Given the description of an element on the screen output the (x, y) to click on. 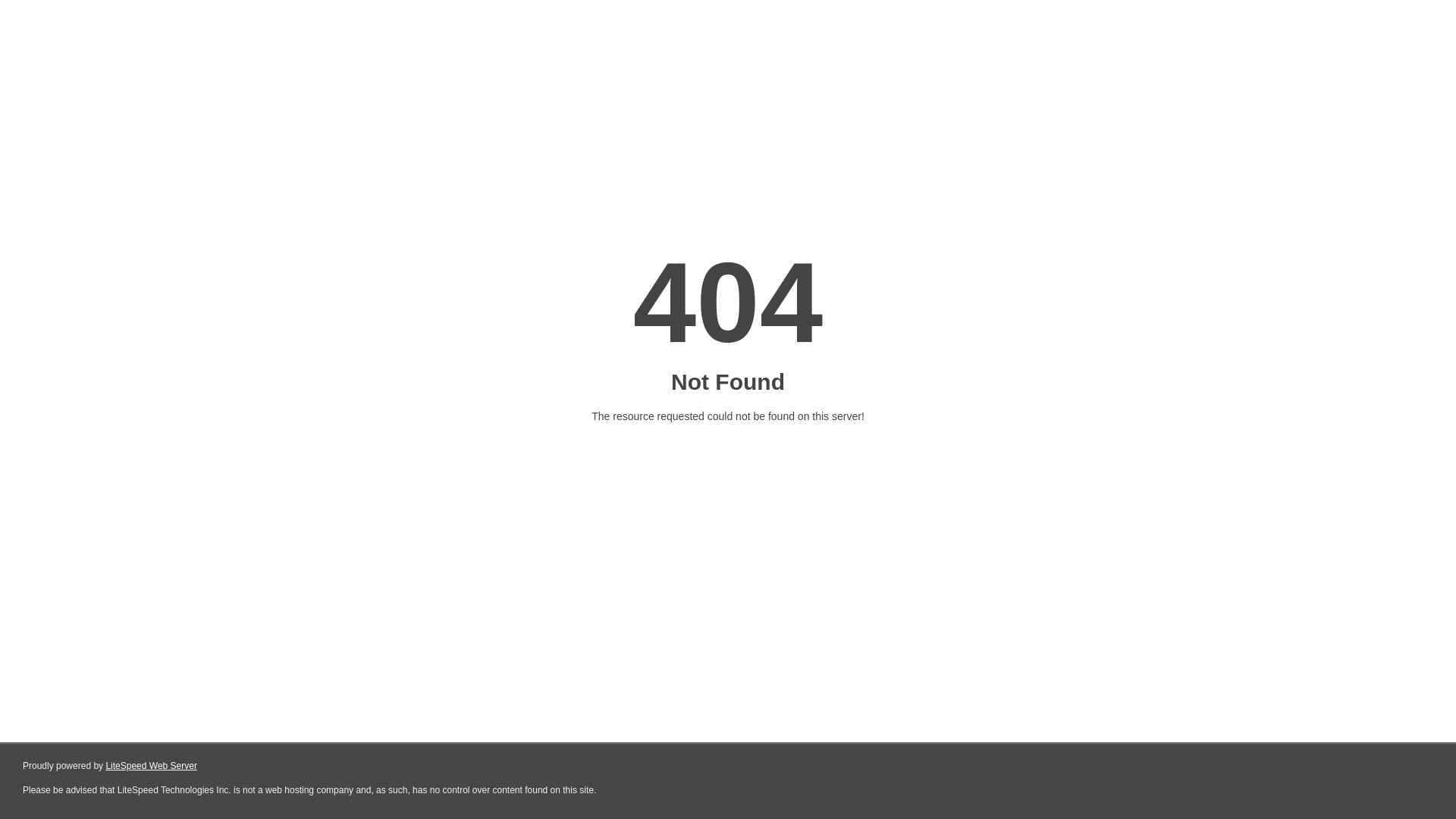
LiteSpeed Web Server Element type: text (151, 765)
